Given the description of an element on the screen output the (x, y) to click on. 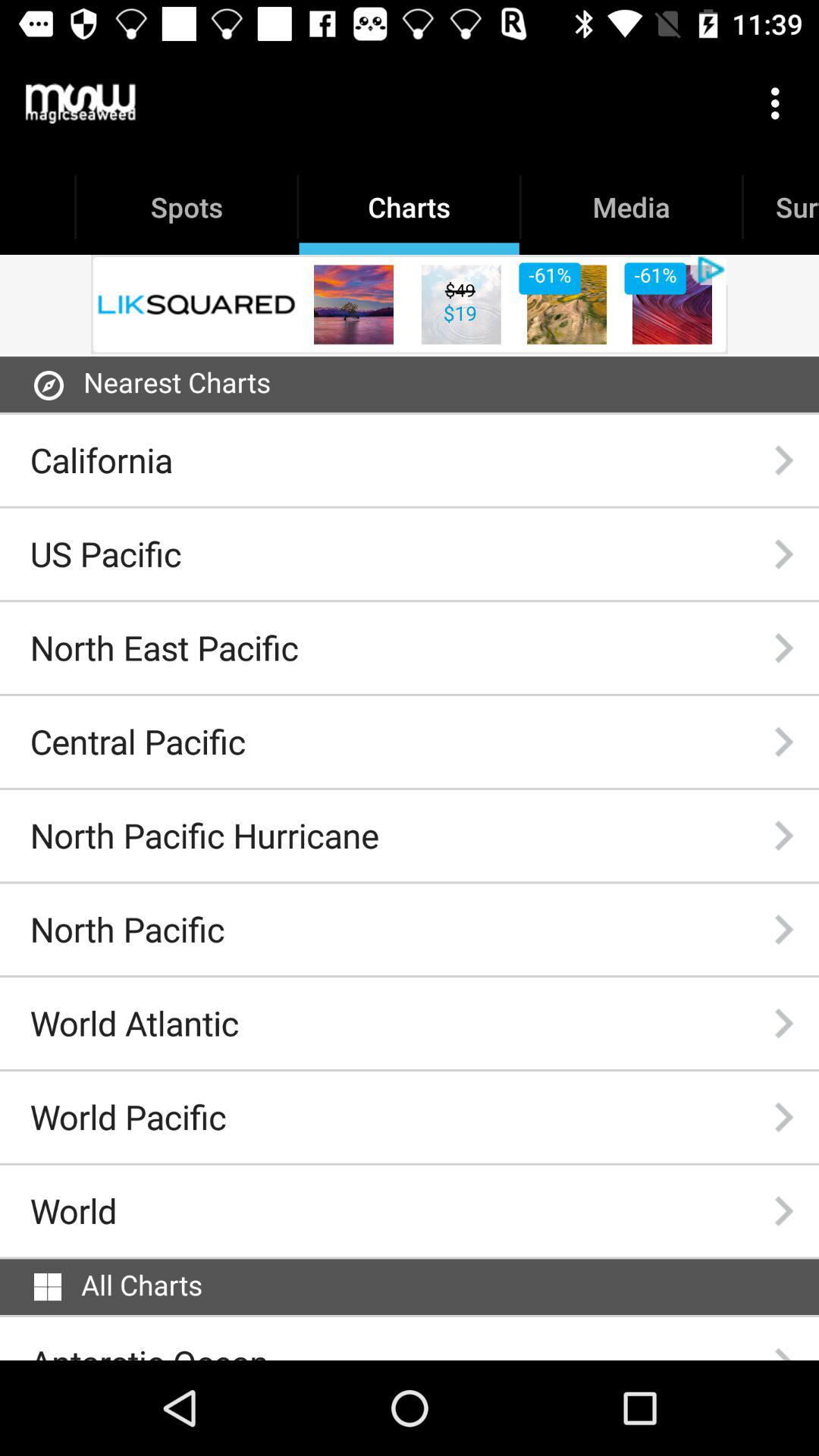
open the item to the right of the north pacific item (784, 929)
